Given the description of an element on the screen output the (x, y) to click on. 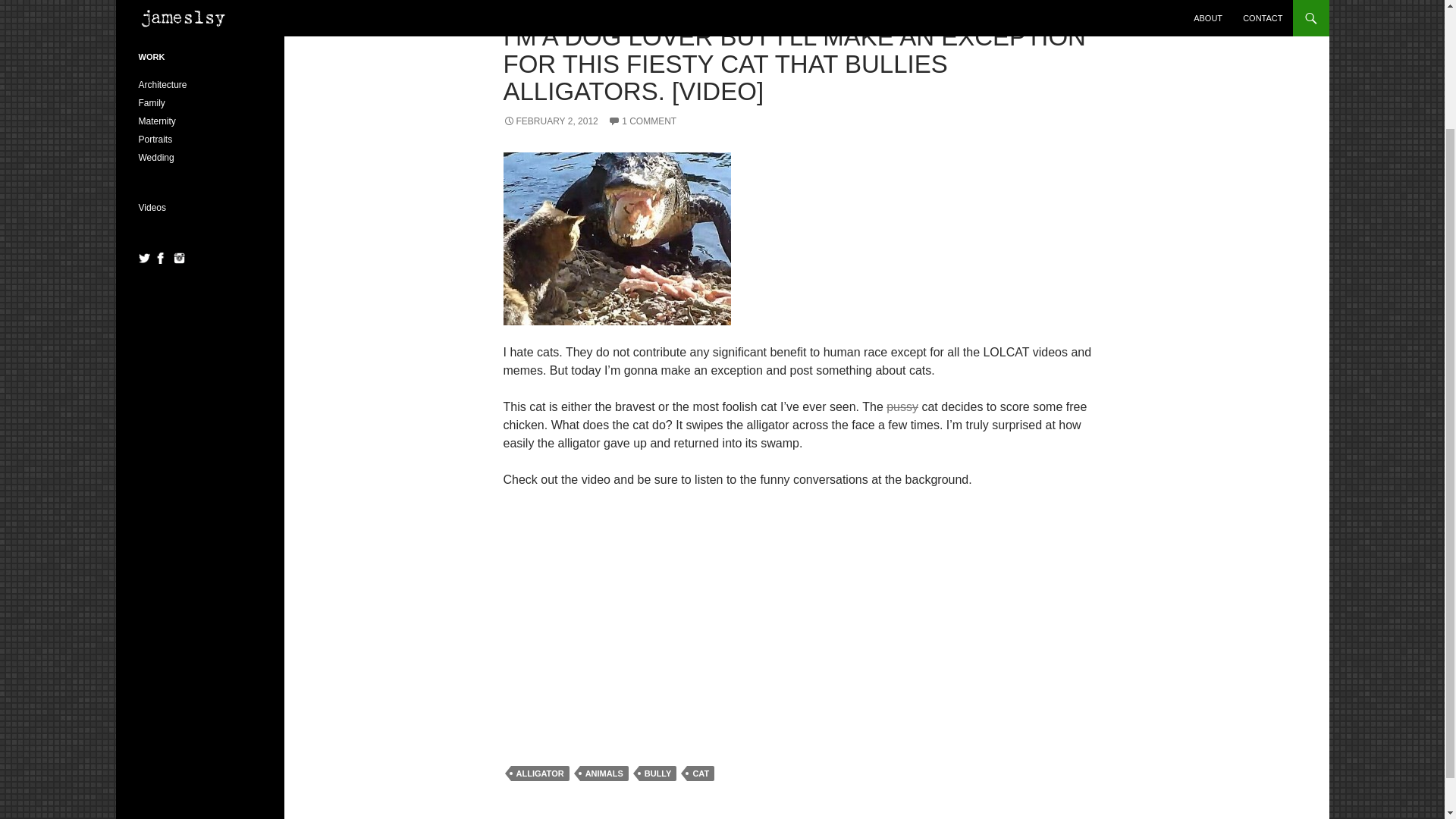
WORLD STAGE (536, 9)
Maternity (156, 121)
BULLY (658, 773)
Architecture (162, 84)
ANIMALS (603, 773)
ALLIGATOR (540, 773)
Videos (151, 207)
Wedding (155, 157)
FEBRUARY 2, 2012 (550, 121)
Portraits (154, 139)
1 COMMENT (642, 121)
It Did Matter (162, 7)
Family (151, 102)
